Given the description of an element on the screen output the (x, y) to click on. 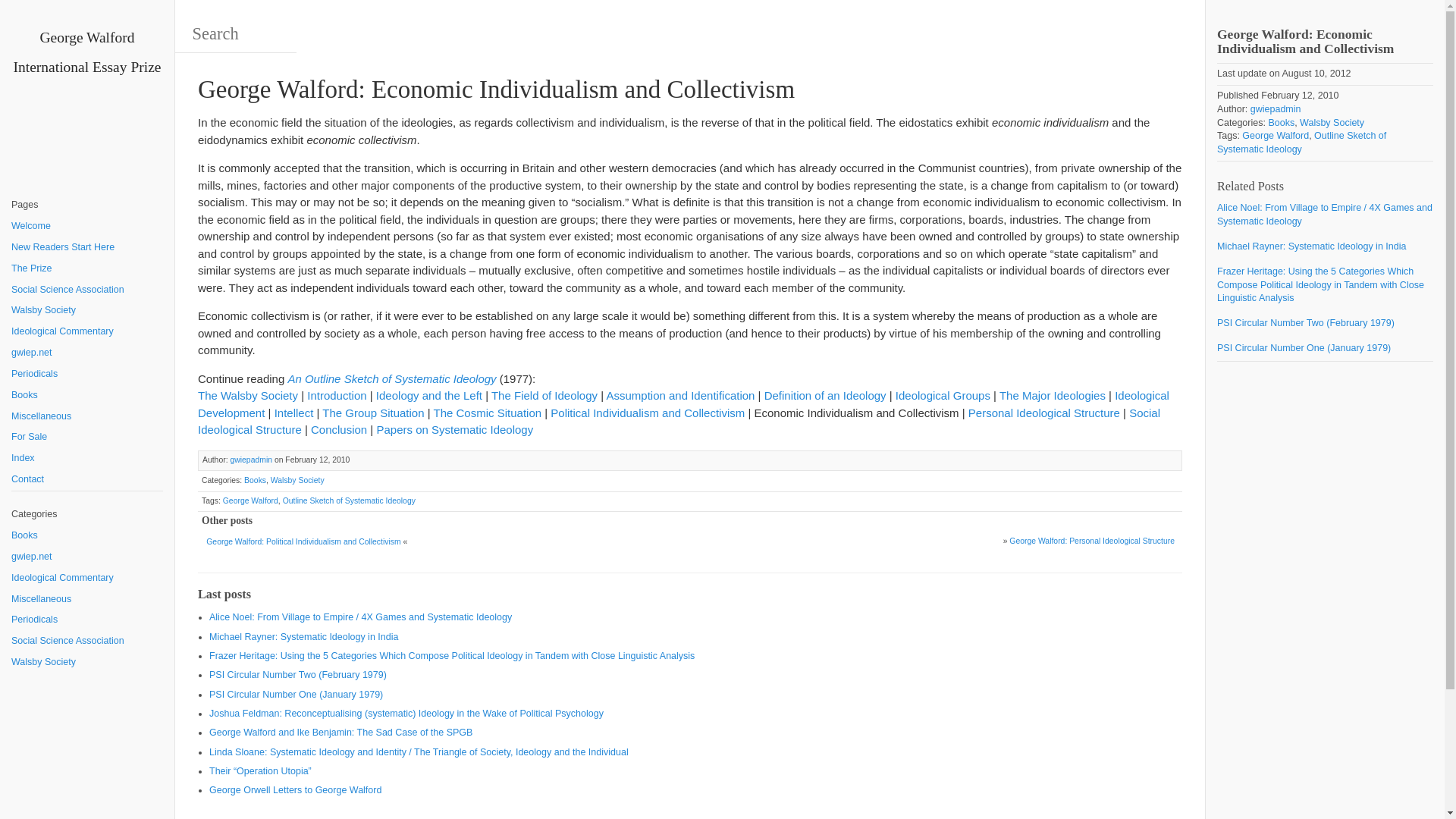
Books (87, 536)
Index (87, 458)
New Readers Start Here (87, 247)
Posts by gwiepadmin (251, 459)
Michael Rayner: Systematic Ideology in India (1324, 246)
The Cosmic Situation (487, 412)
Ideological Development (683, 404)
Periodicals (87, 619)
Social Science Association (87, 640)
Conclusion (338, 429)
Assumption and Identification (679, 395)
The Group Situation (372, 412)
The Walsby Society (248, 395)
Contact (87, 479)
George Walford International Essay Prize (87, 52)
